Given the description of an element on the screen output the (x, y) to click on. 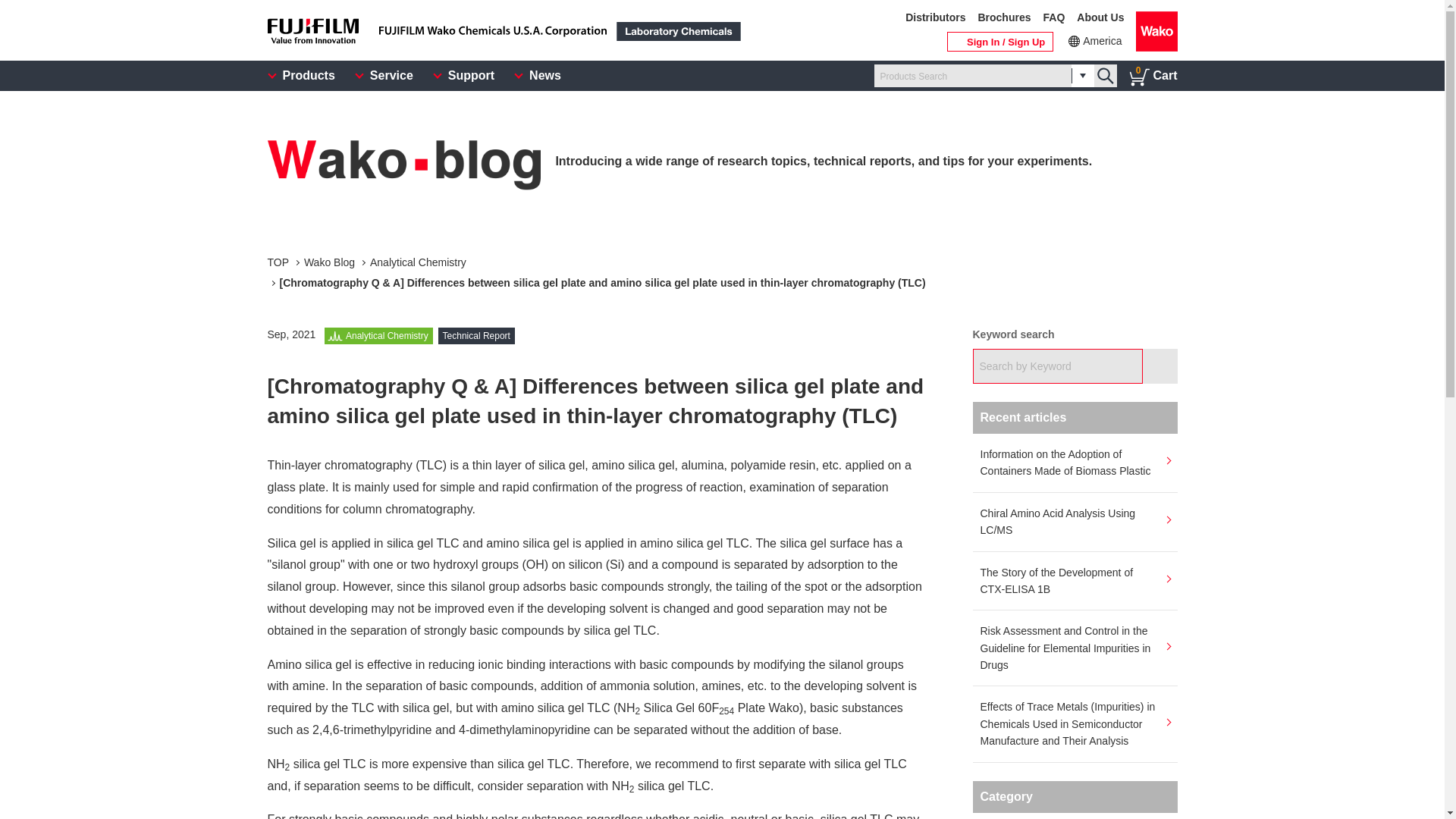
Brochures (1003, 17)
About Us (1100, 17)
Technical Report (476, 335)
Search (1152, 75)
Distributors (1104, 75)
Wako Blog (935, 17)
FAQ (329, 262)
Search (1054, 17)
Search (1158, 366)
Analytical Chemistry (1158, 366)
America (387, 335)
TOP (1094, 40)
Analytical Chemistry (277, 262)
